Given the description of an element on the screen output the (x, y) to click on. 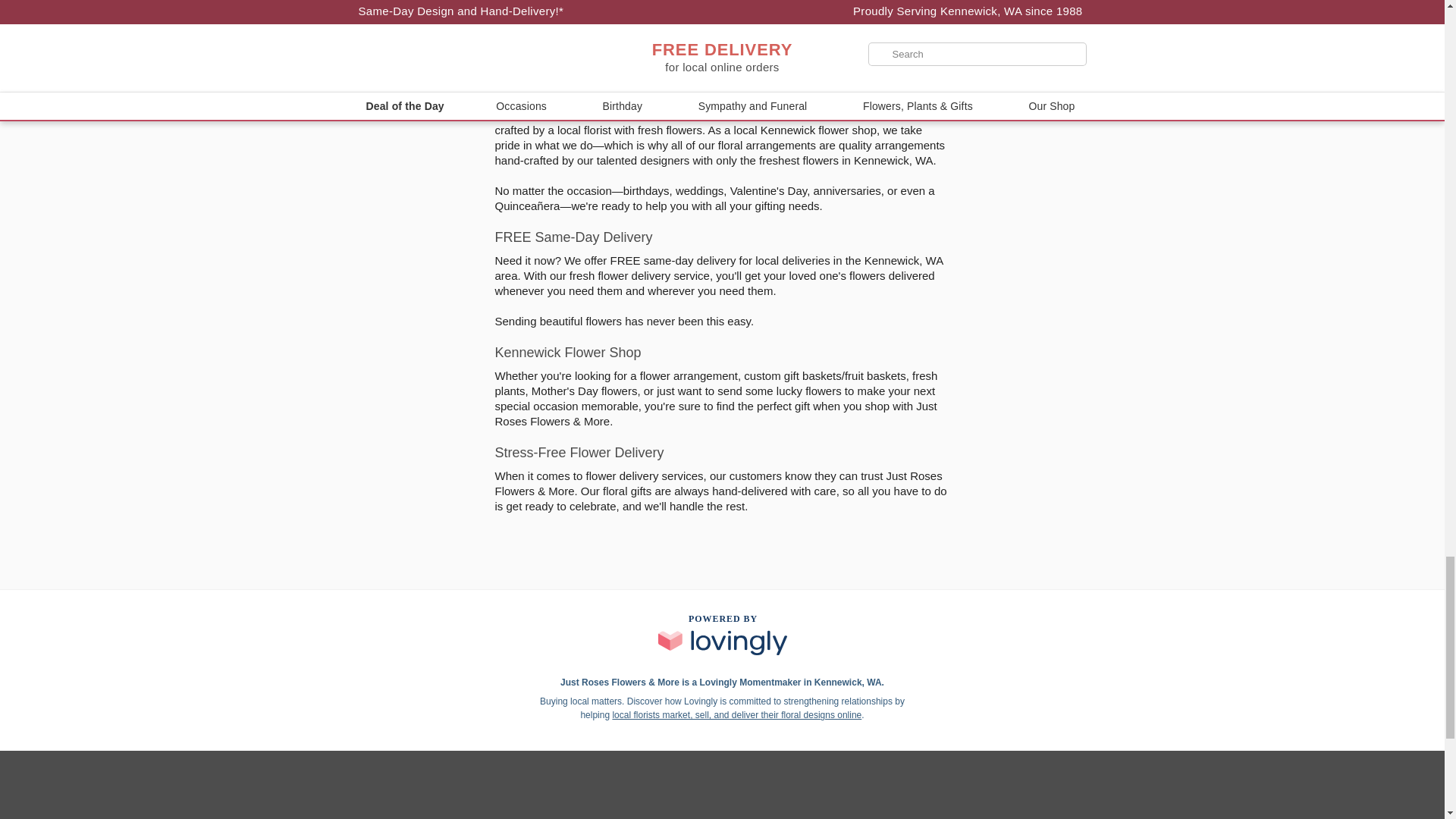
POWERED BY (722, 633)
